Given the description of an element on the screen output the (x, y) to click on. 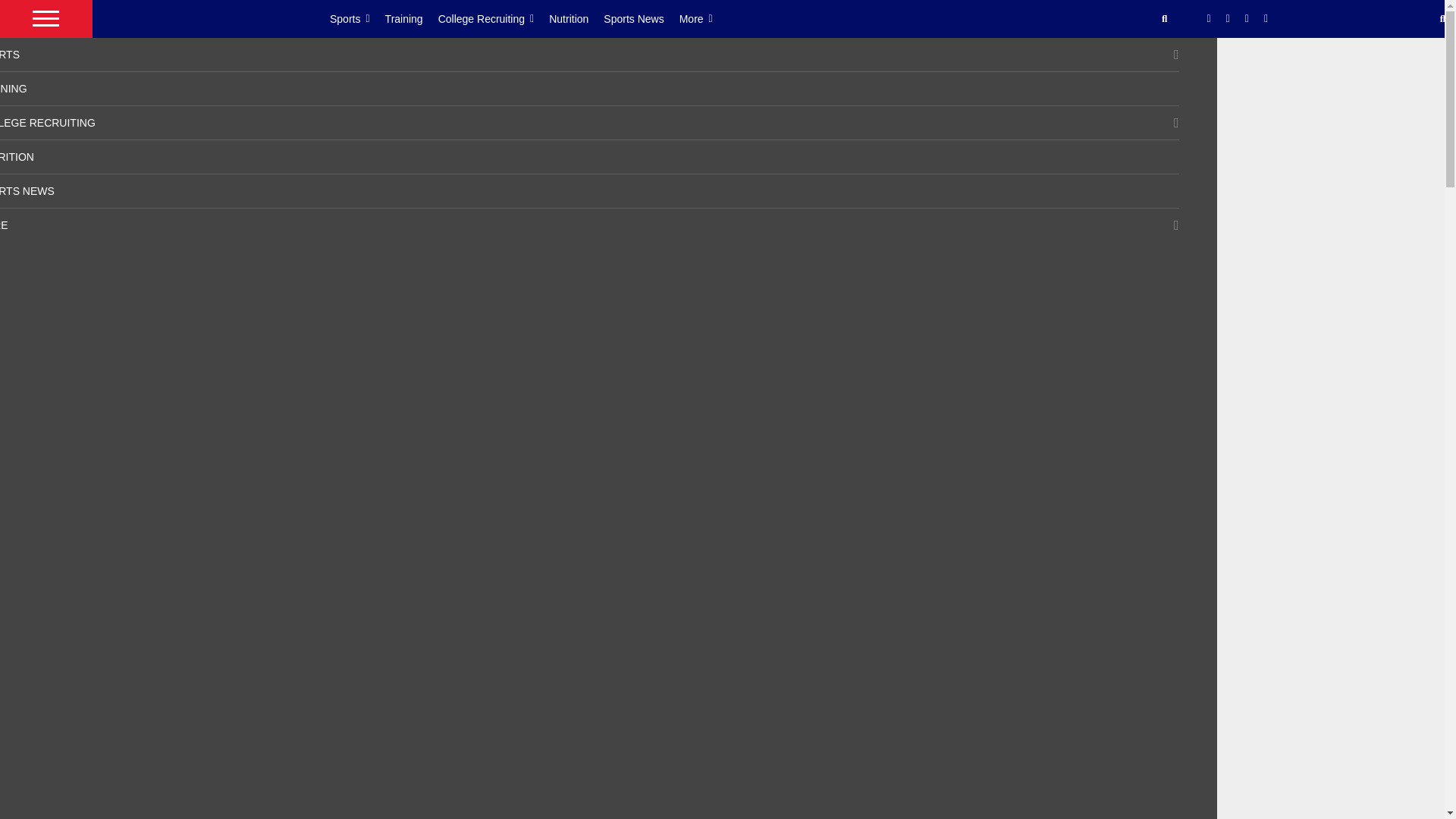
Nutrition (576, 18)
College Recruiting (494, 18)
SPORTS (10, 54)
Training (411, 18)
More (703, 18)
Sports News (641, 18)
Sports (357, 18)
